Given the description of an element on the screen output the (x, y) to click on. 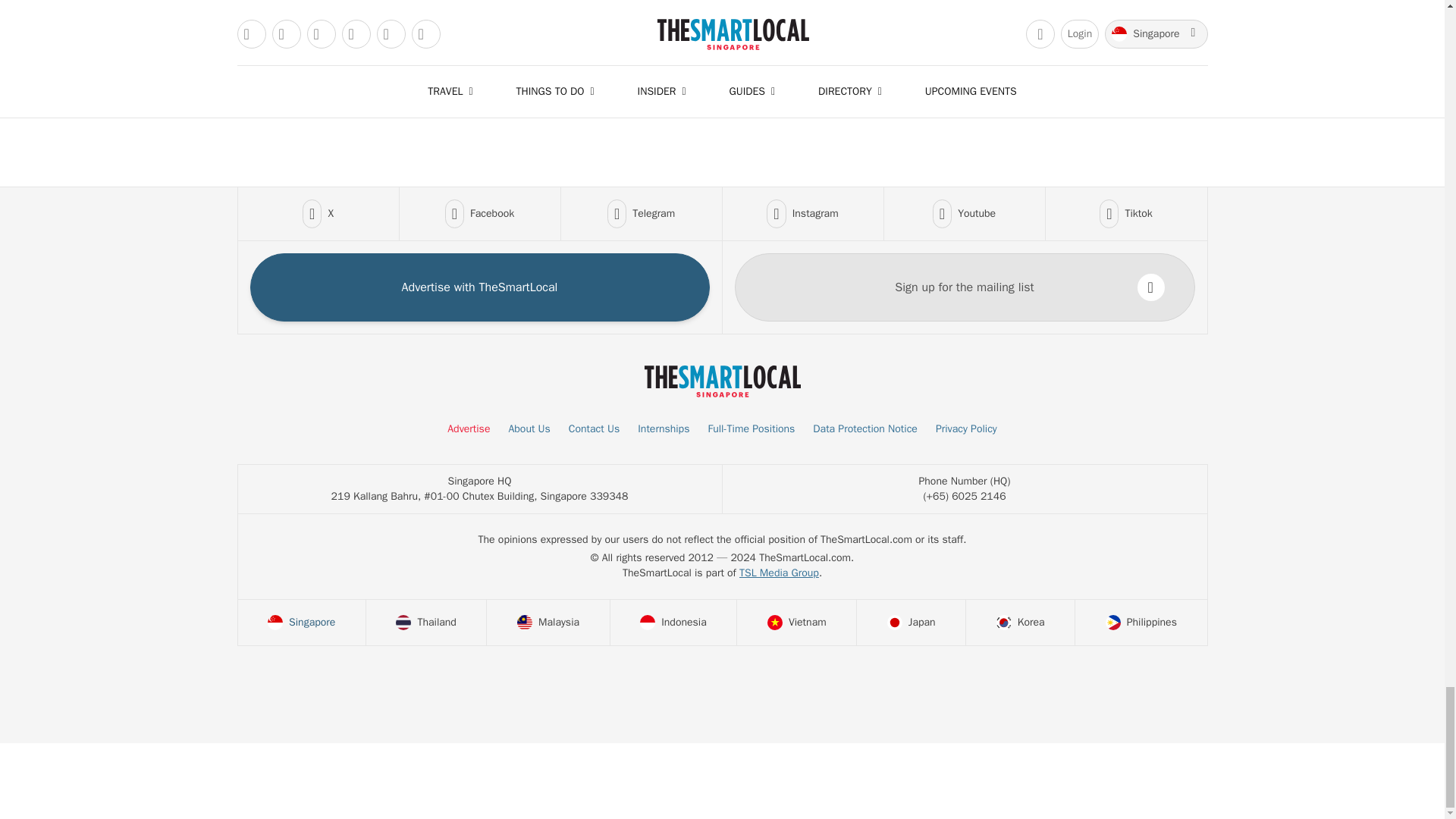
subscribe (1150, 287)
